Given the description of an element on the screen output the (x, y) to click on. 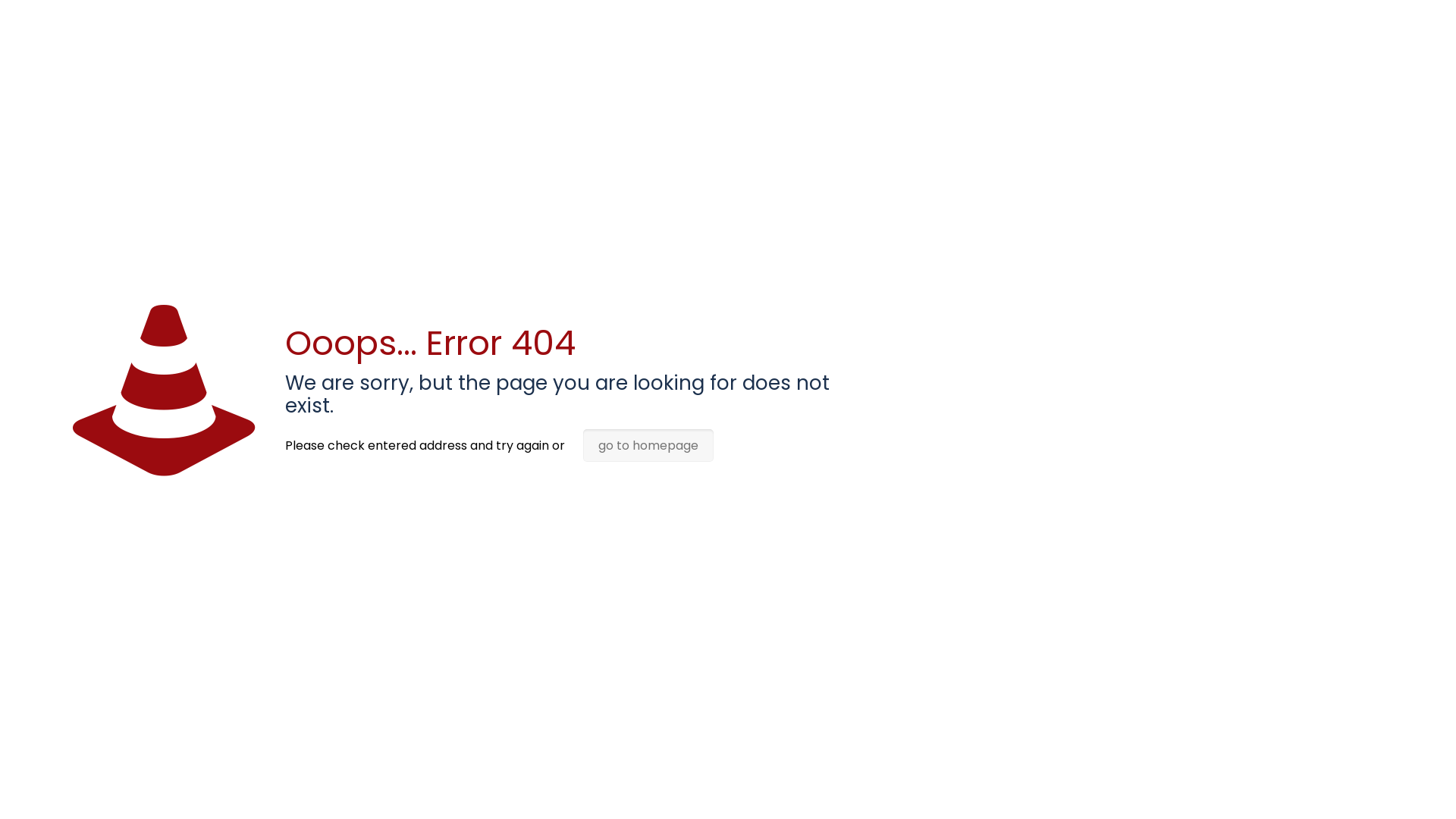
go to homepage Element type: text (648, 445)
